Given the description of an element on the screen output the (x, y) to click on. 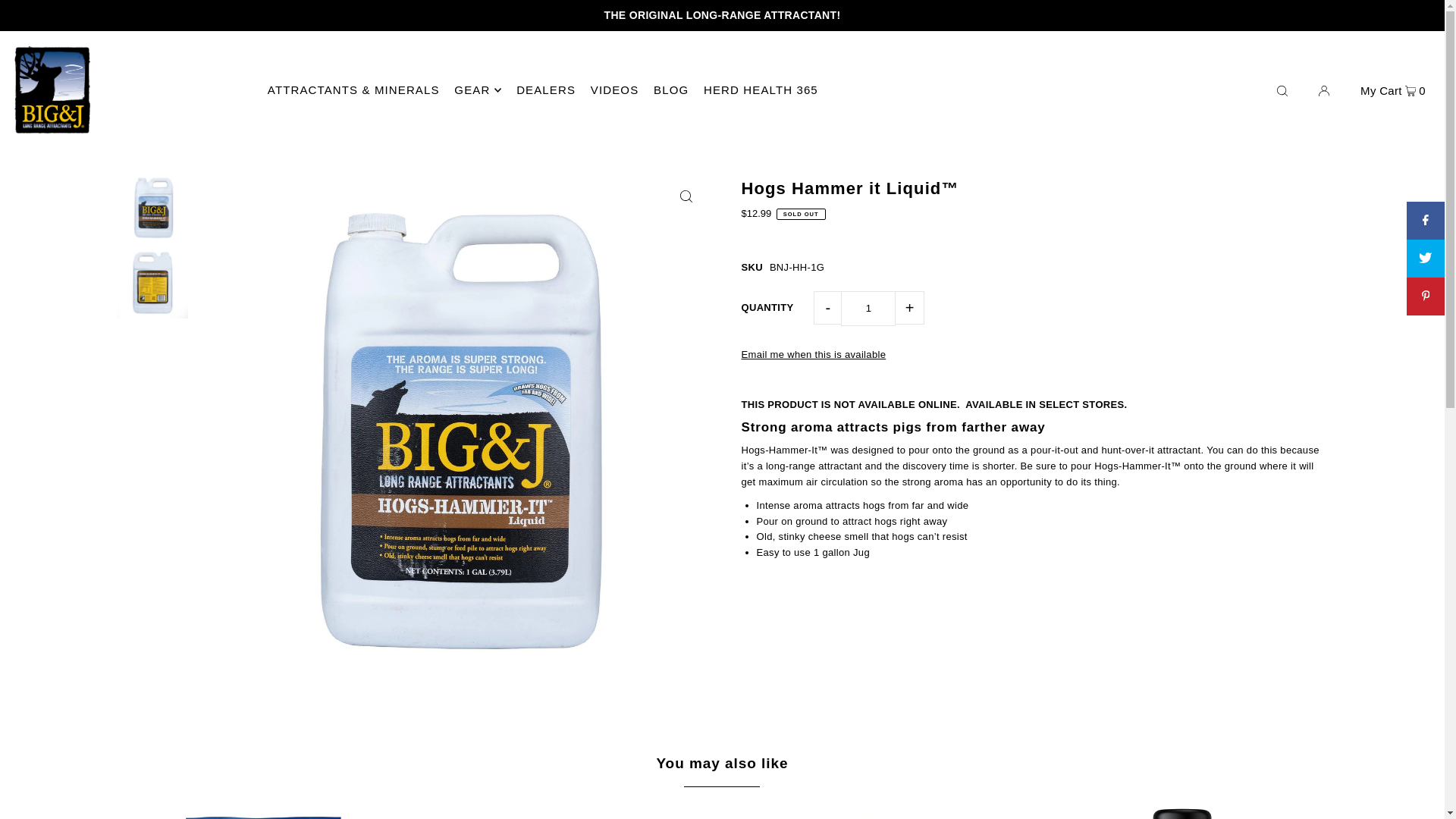
GEAR (477, 89)
Click to zoom (685, 195)
HERD HEALTH 365 (760, 89)
VIDEOS (615, 89)
BB2 Cube (569, 806)
1 (868, 308)
DEALERS (545, 89)
BLOG (670, 89)
BB2 (262, 806)
